Given the description of an element on the screen output the (x, y) to click on. 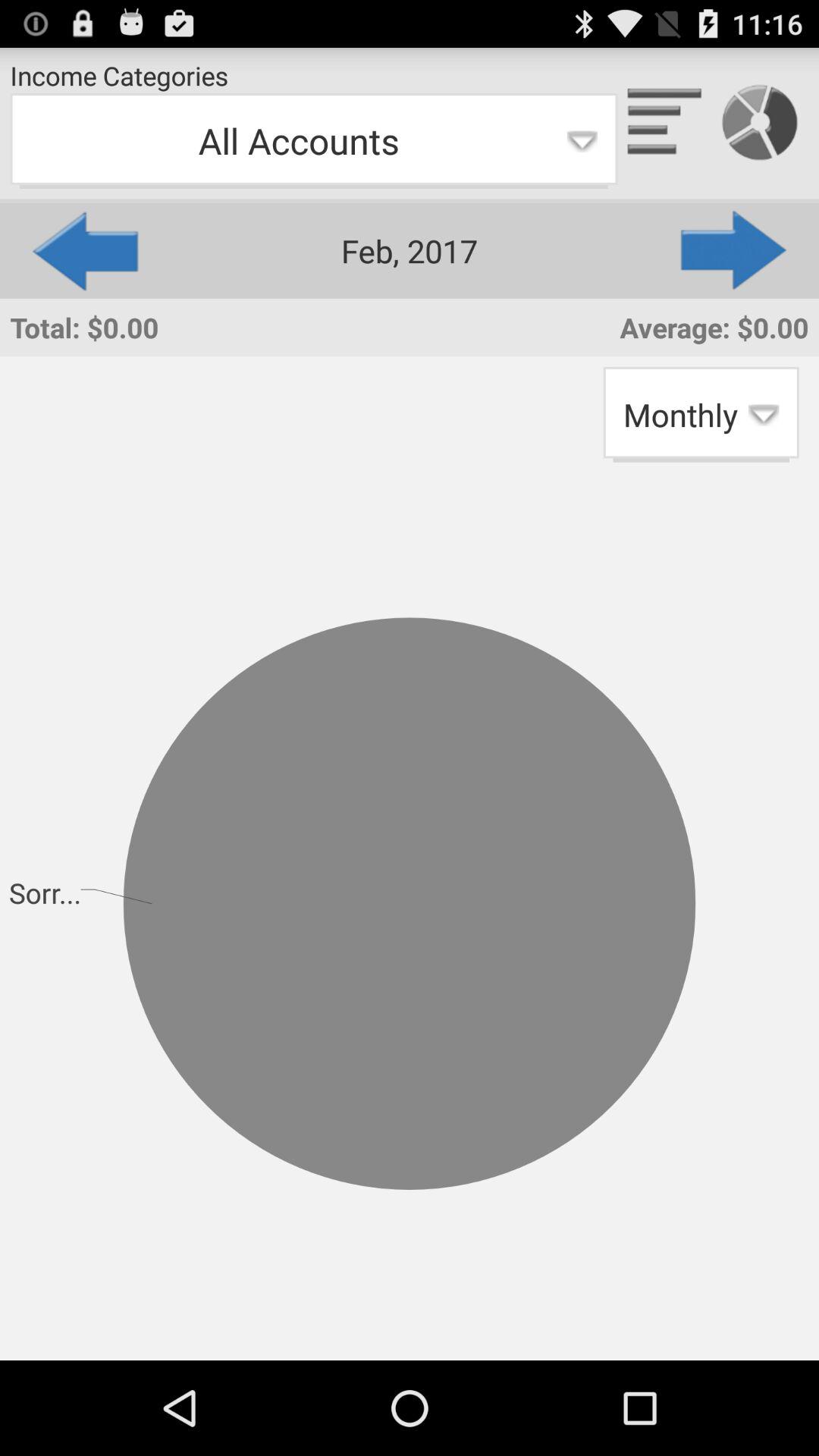
press the button to the right of the all accounts icon (735, 250)
